Given the description of an element on the screen output the (x, y) to click on. 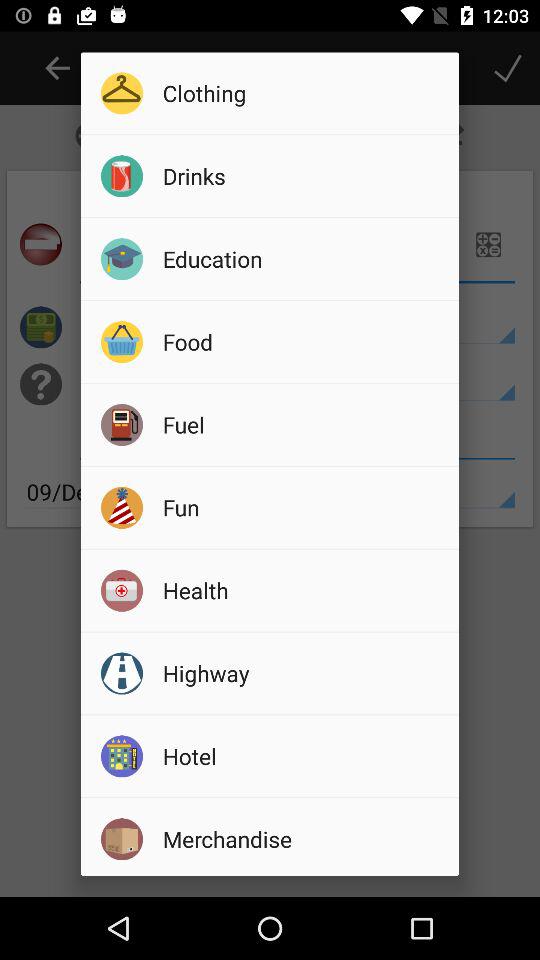
select the icon above the merchandise item (303, 756)
